Given the description of an element on the screen output the (x, y) to click on. 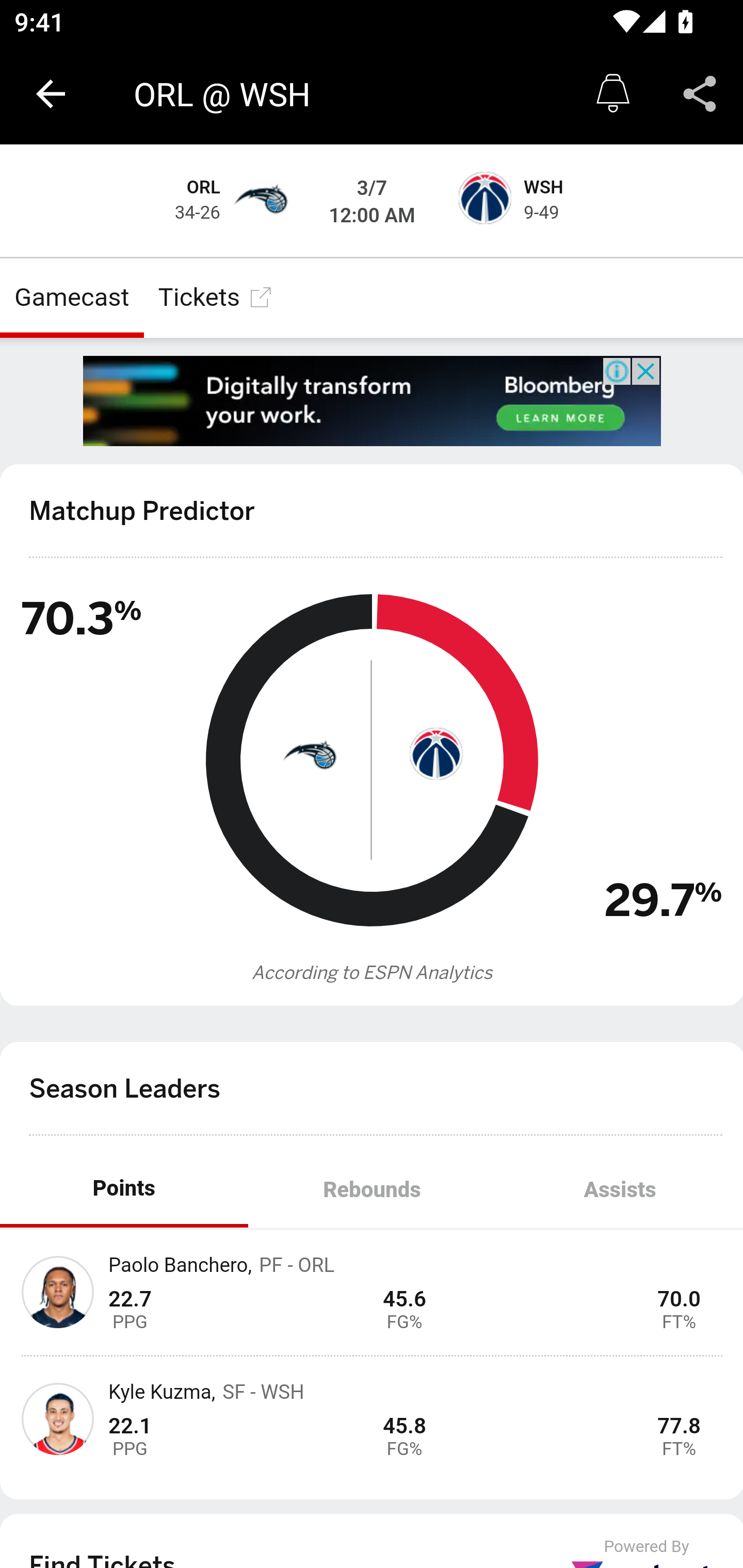
Navigate up (50, 93)
Alerts í (612, 93)
Share (699, 93)
Orlando Magic (260, 200)
Washington Wizards (483, 200)
ORL (203, 187)
WSH (543, 187)
Gamecast (72, 296)
Tickets External Link Tickets External Link (215, 296)
Orlando Magic (308, 753)
Washington Wizards (434, 753)
According to ESPN Analytics (372, 972)
Points (124, 1189)
Rebounds (371, 1189)
Assists (618, 1189)
Powered By VividSeats Powered By VividSeats (646, 1553)
